Given the description of an element on the screen output the (x, y) to click on. 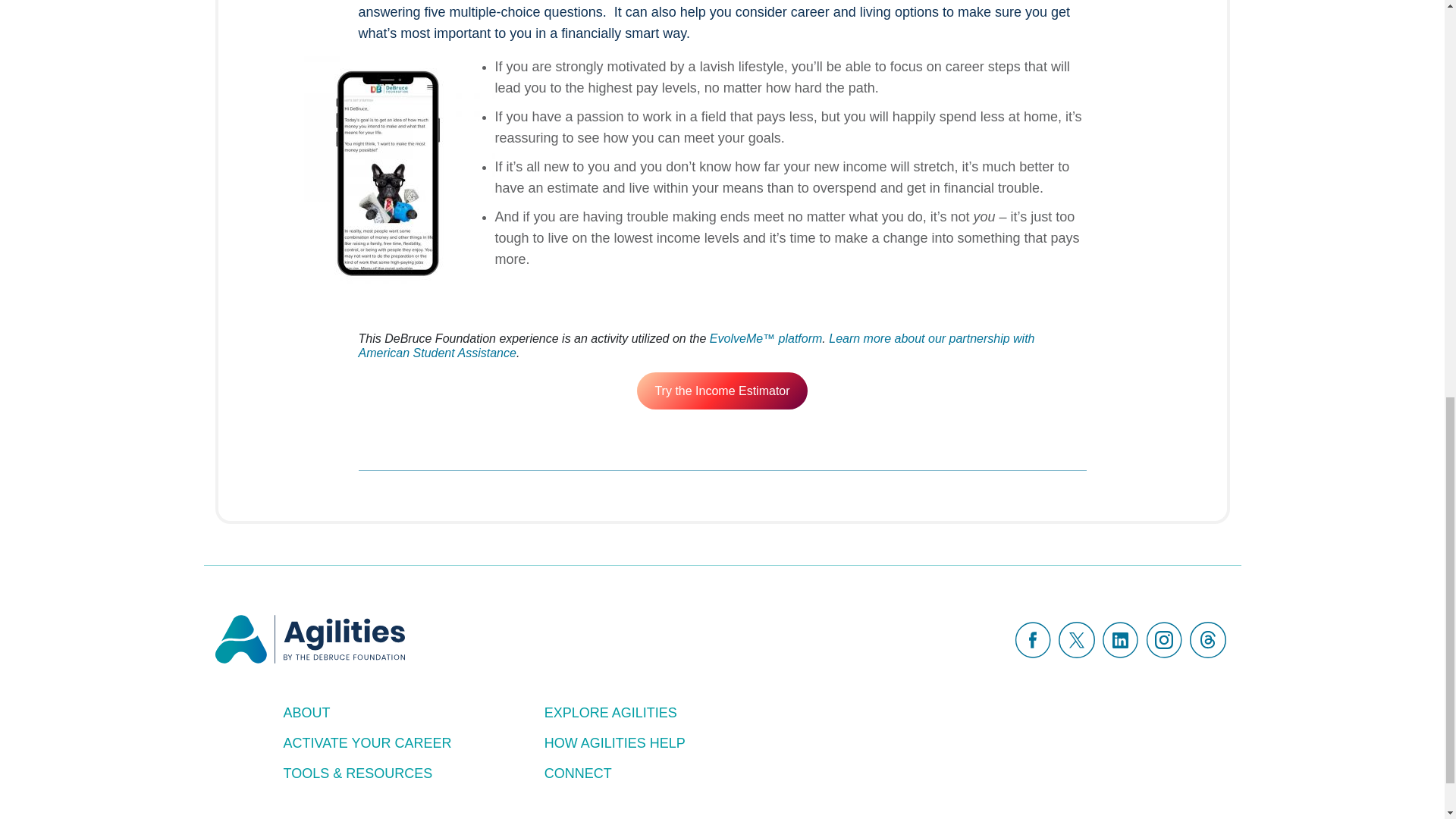
instagram (1162, 639)
Try the Income Estimator (722, 390)
Created with Sketch. (1032, 639)
Created with Sketch. (1120, 639)
